Given the description of an element on the screen output the (x, y) to click on. 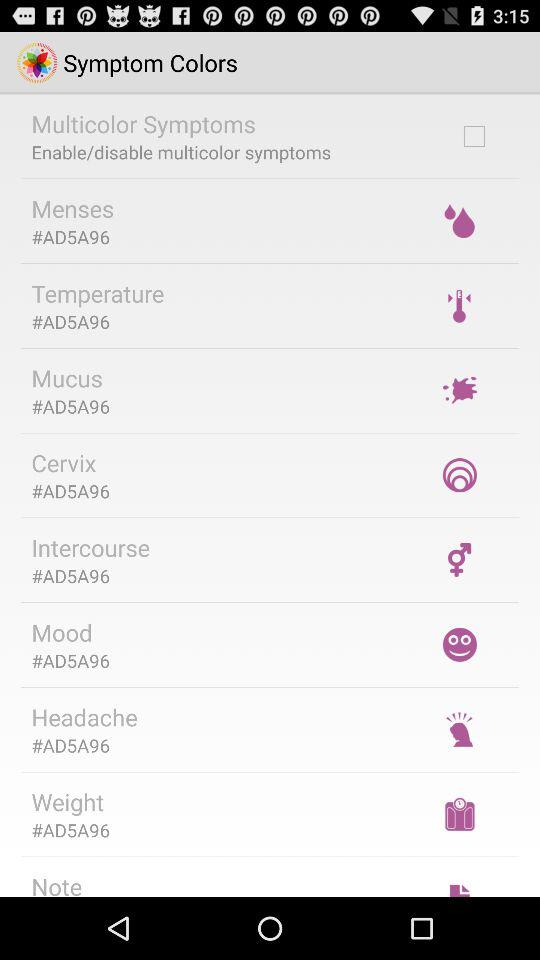
choose item to the right of enable disable multicolor app (474, 136)
